Given the description of an element on the screen output the (x, y) to click on. 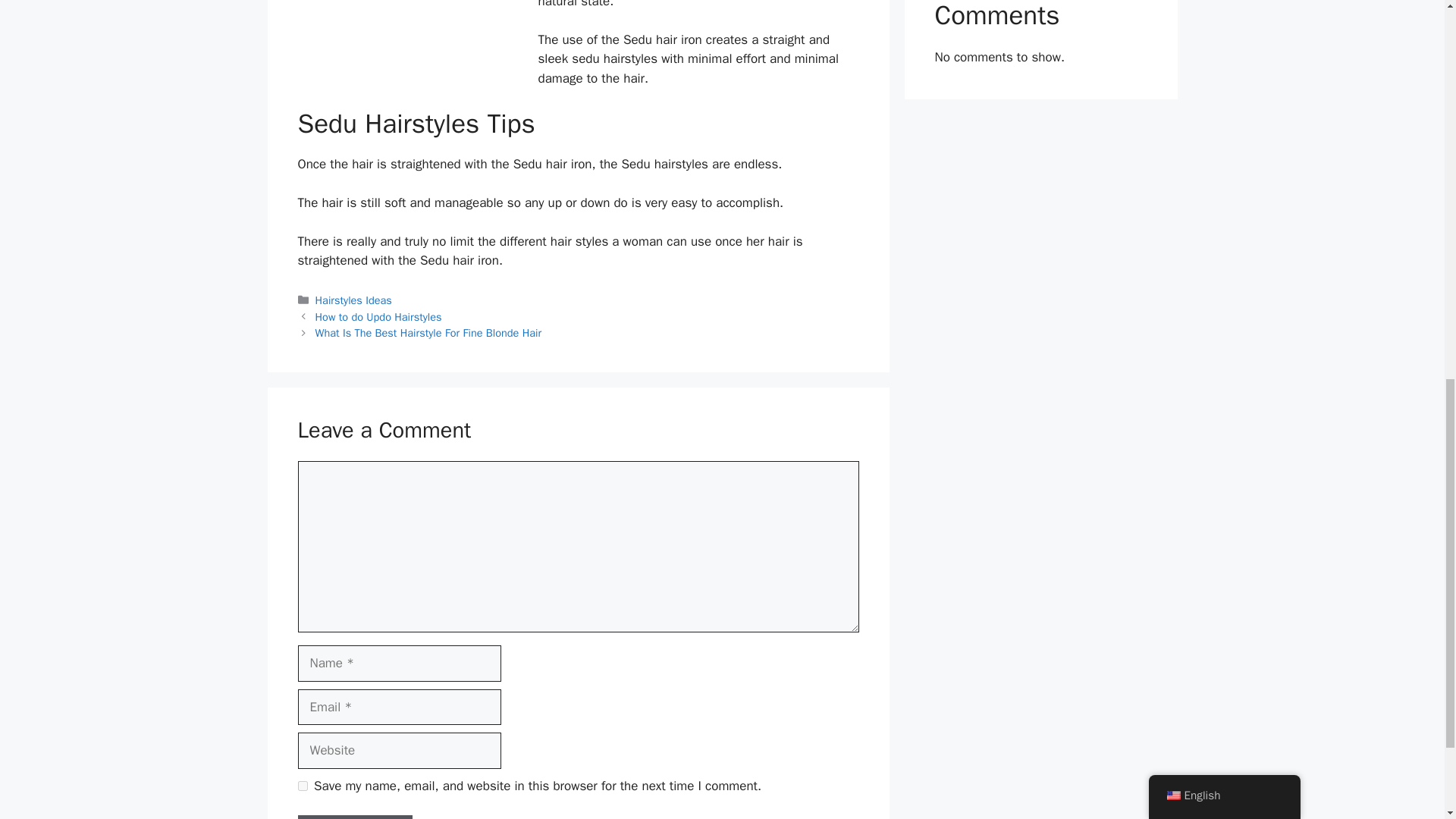
What Is The Best Hairstyle For Fine Blonde Hair (428, 332)
yes (302, 786)
Post Comment (354, 816)
Post Comment (354, 816)
Hairstyles Ideas (353, 300)
How to do Updo Hairstyles (378, 316)
